Given the description of an element on the screen output the (x, y) to click on. 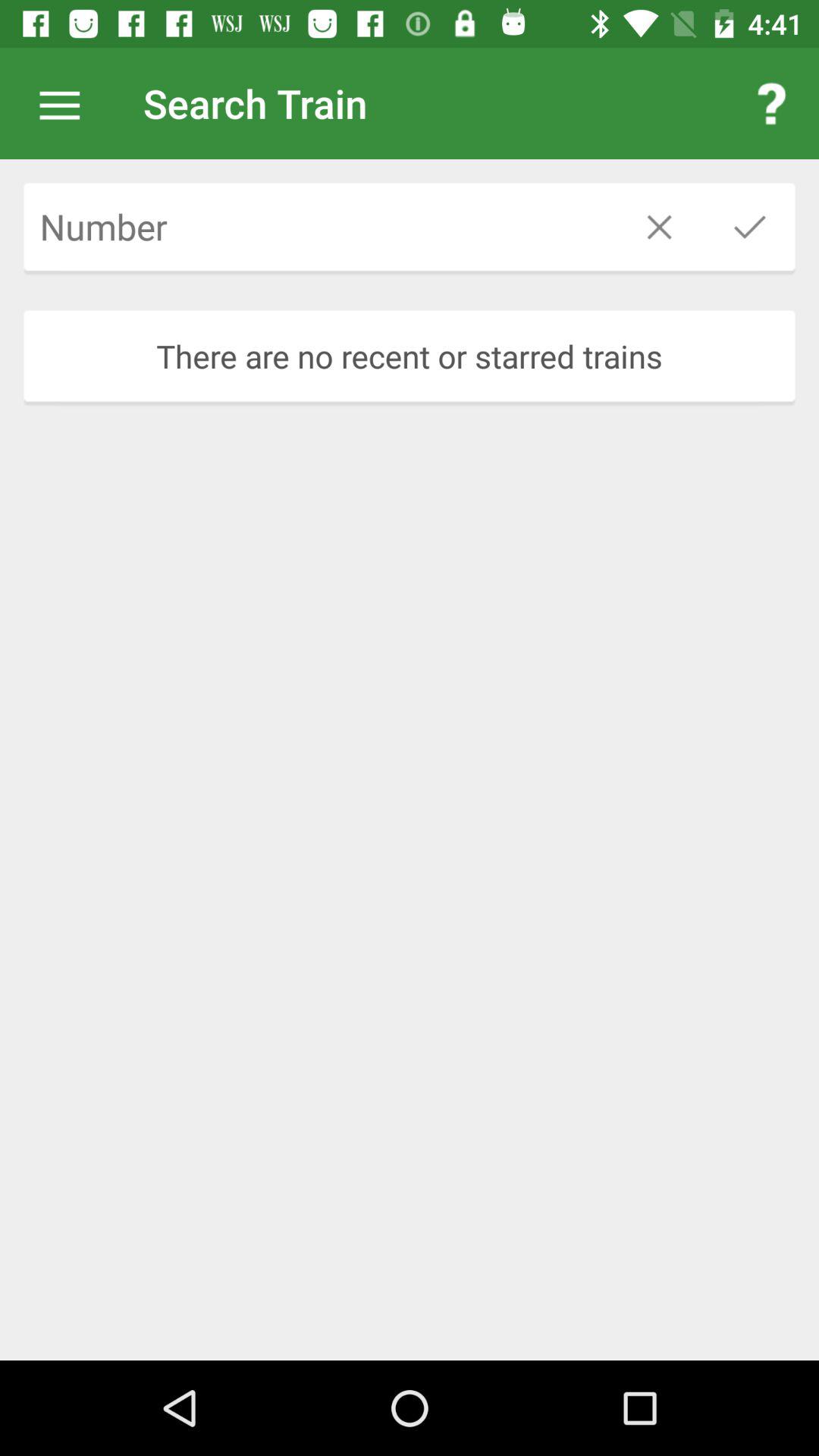
press the there are no (409, 355)
